Given the description of an element on the screen output the (x, y) to click on. 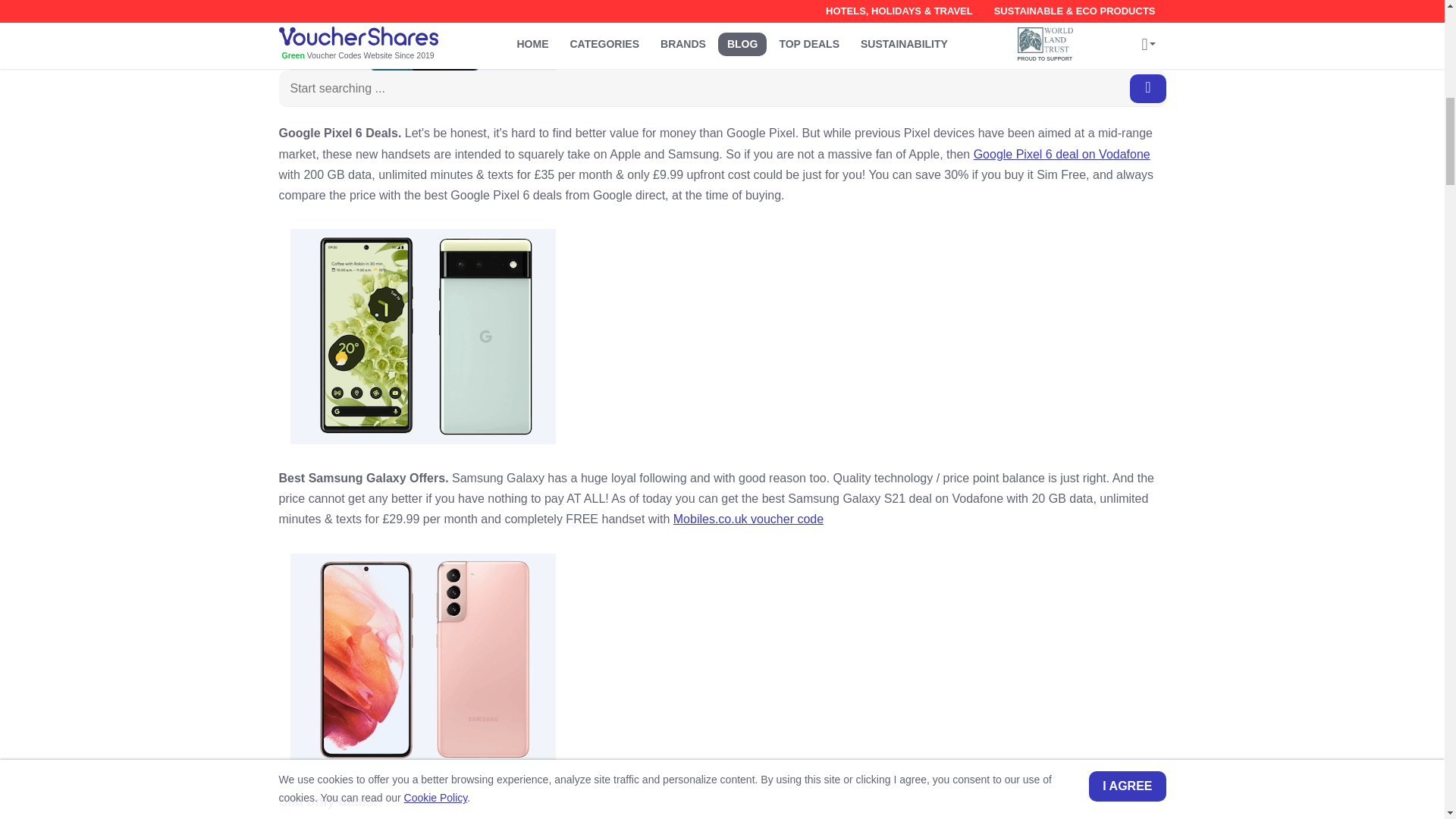
Samsung Galaxy S21 with Mobiles.co.uk voucher code (421, 661)
Mobiles.co.uk voucher code (748, 518)
Apple iPhone 13 with Mobiles.co.uk voucher code (421, 49)
Google Pixel 6 with Mobiles.co.uk voucher code (421, 336)
Google Pixel 6 deal on Vodafone (1062, 154)
